Given the description of an element on the screen output the (x, y) to click on. 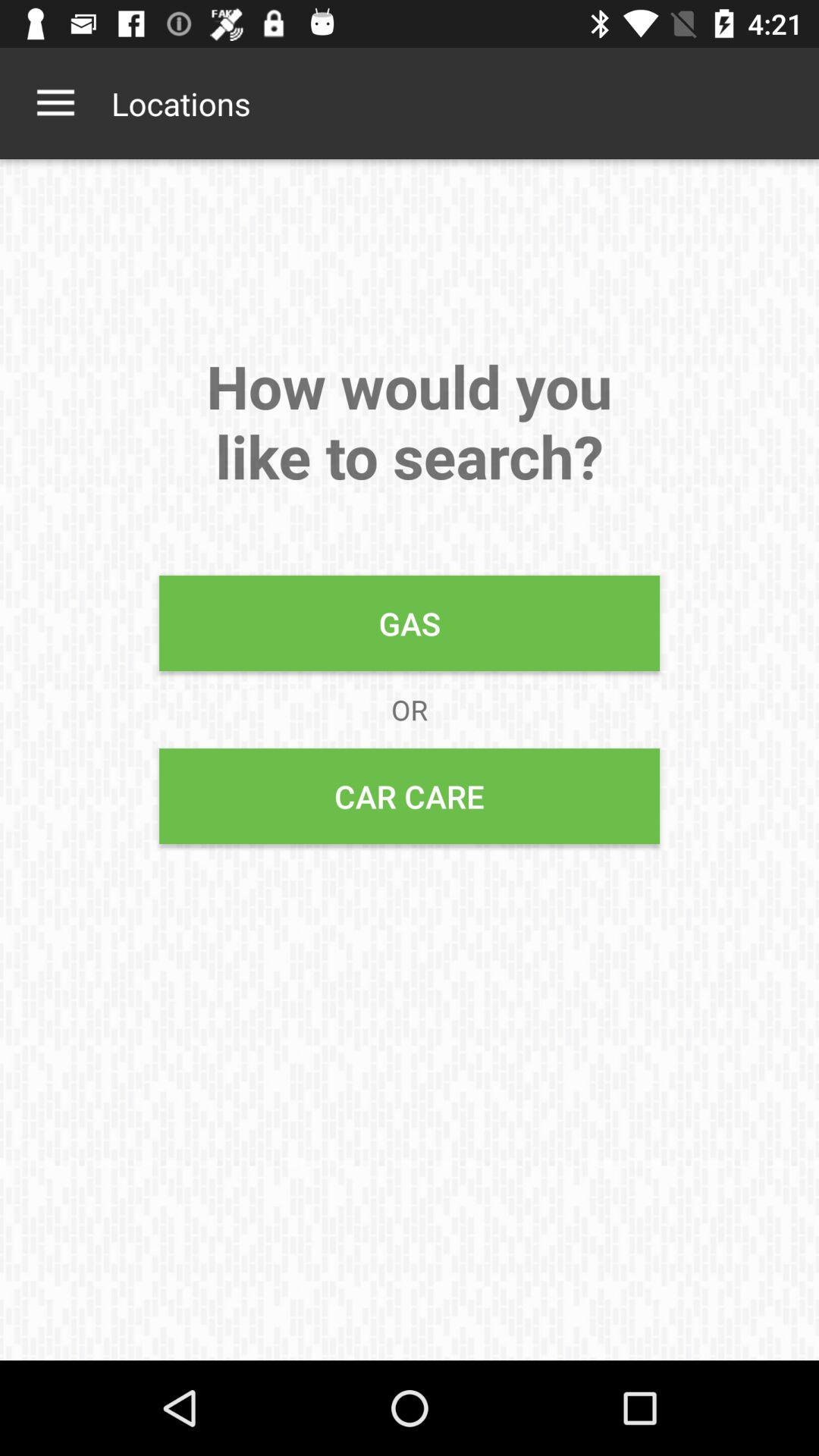
scroll until the locations icon (180, 103)
